Given the description of an element on the screen output the (x, y) to click on. 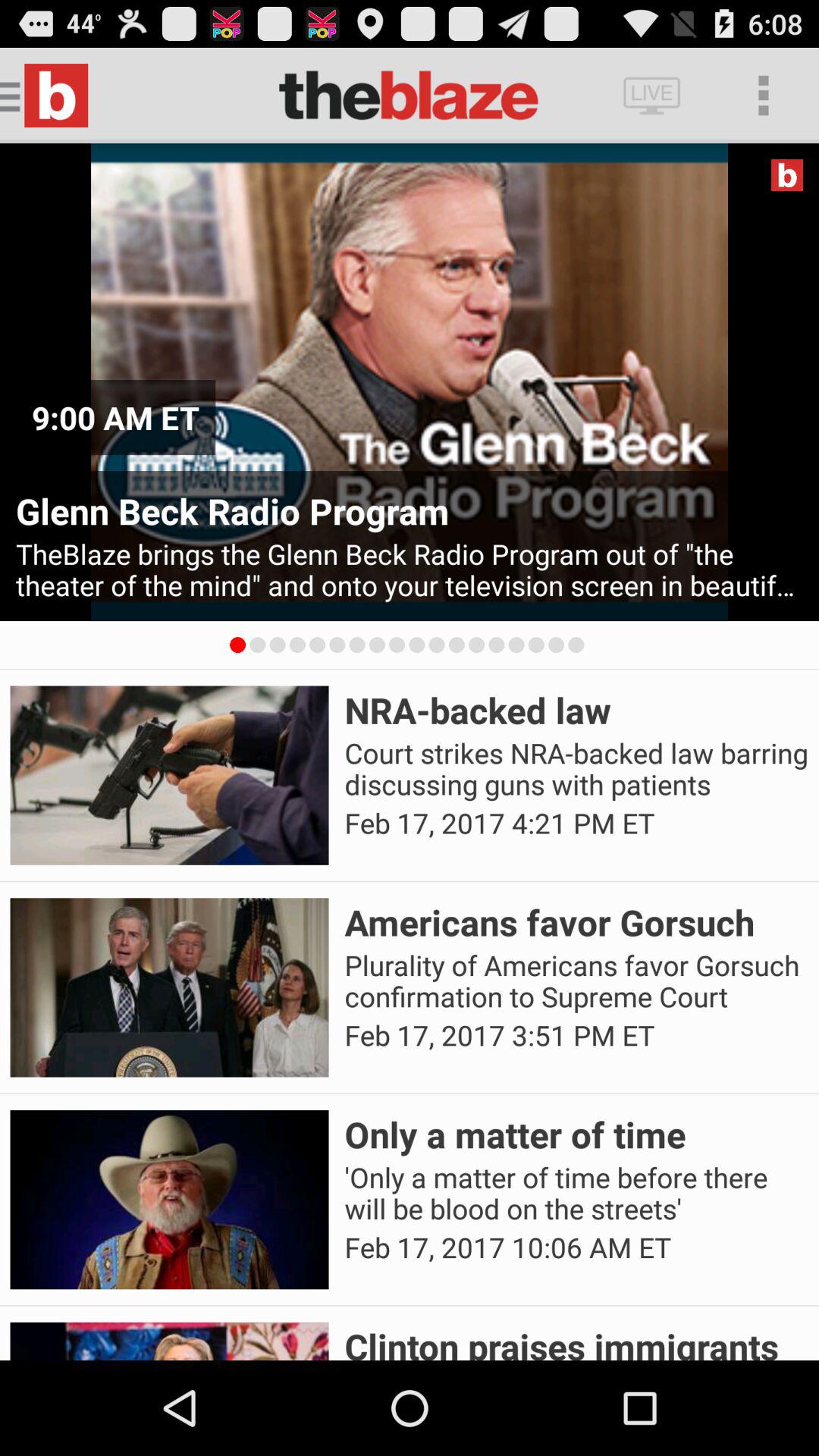
swipe until the clinton praises immigrants (576, 1341)
